Given the description of an element on the screen output the (x, y) to click on. 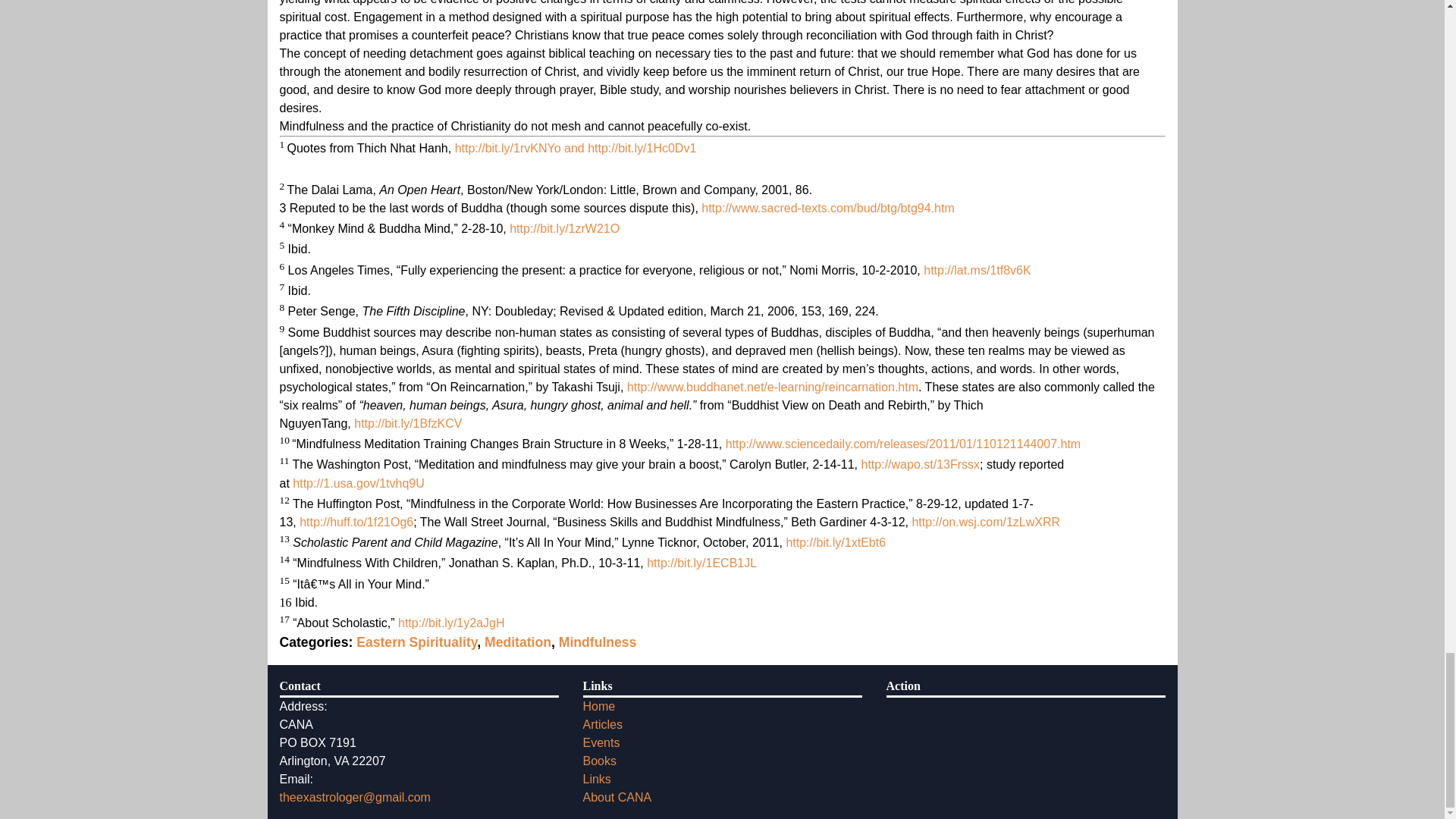
Links (596, 779)
Articles (601, 724)
About CANA (616, 797)
Home (598, 706)
Eastern Spirituality (416, 642)
Events (601, 742)
Meditation (517, 642)
Books (598, 760)
Mindfulness (598, 642)
